Given the description of an element on the screen output the (x, y) to click on. 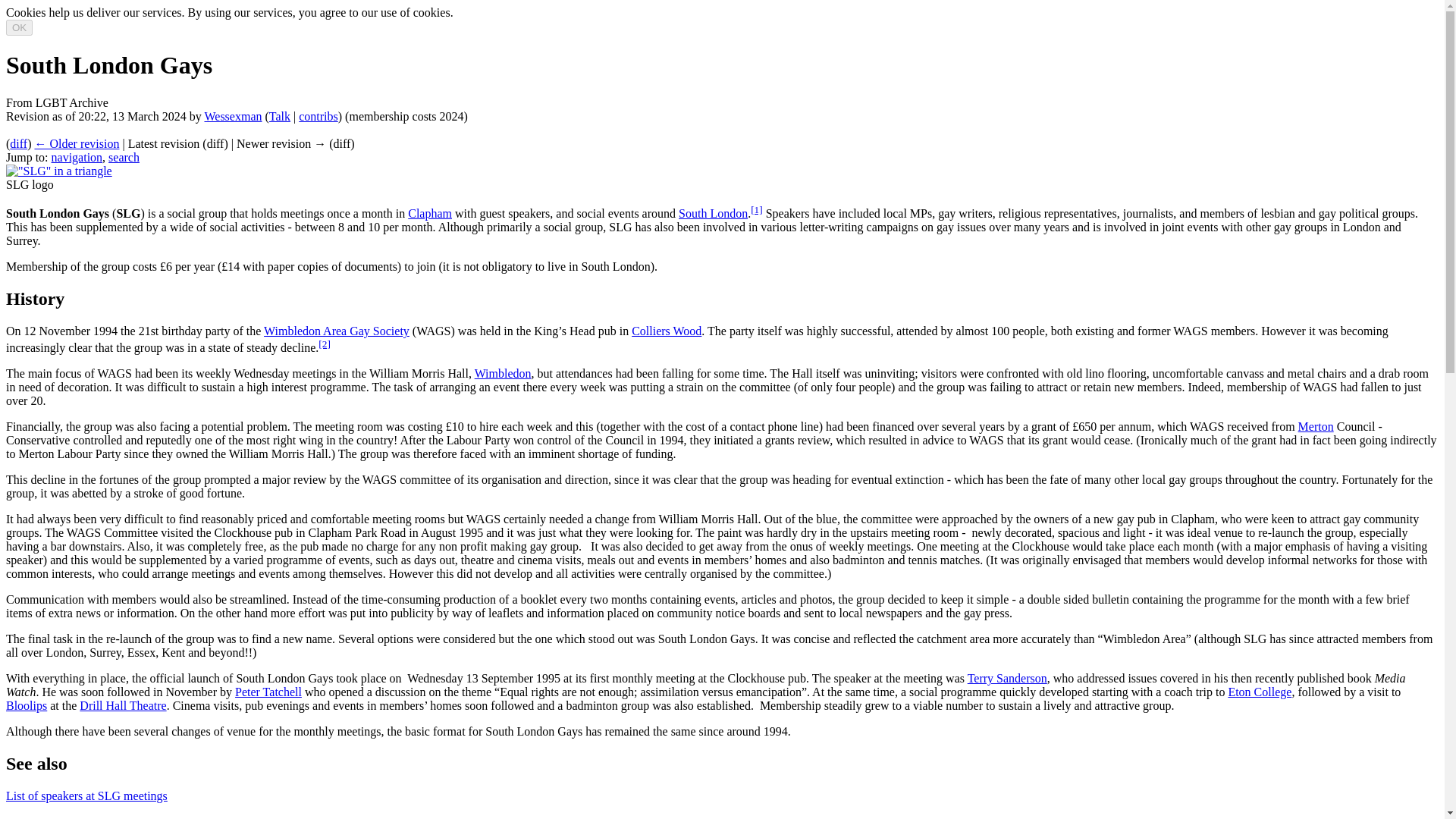
Talk (279, 115)
Bloolips (25, 705)
navigation (76, 156)
Peter Tatchell (267, 691)
contribs (317, 115)
Wimbledon (502, 373)
Colliers Wood (666, 330)
OK (18, 27)
List of speakers at SLG meetings (86, 795)
Peter Tatchell (267, 691)
Colliers Wood (666, 330)
Eton College (1259, 691)
Wimbledon (502, 373)
Eton College (1259, 691)
South London (713, 213)
